Given the description of an element on the screen output the (x, y) to click on. 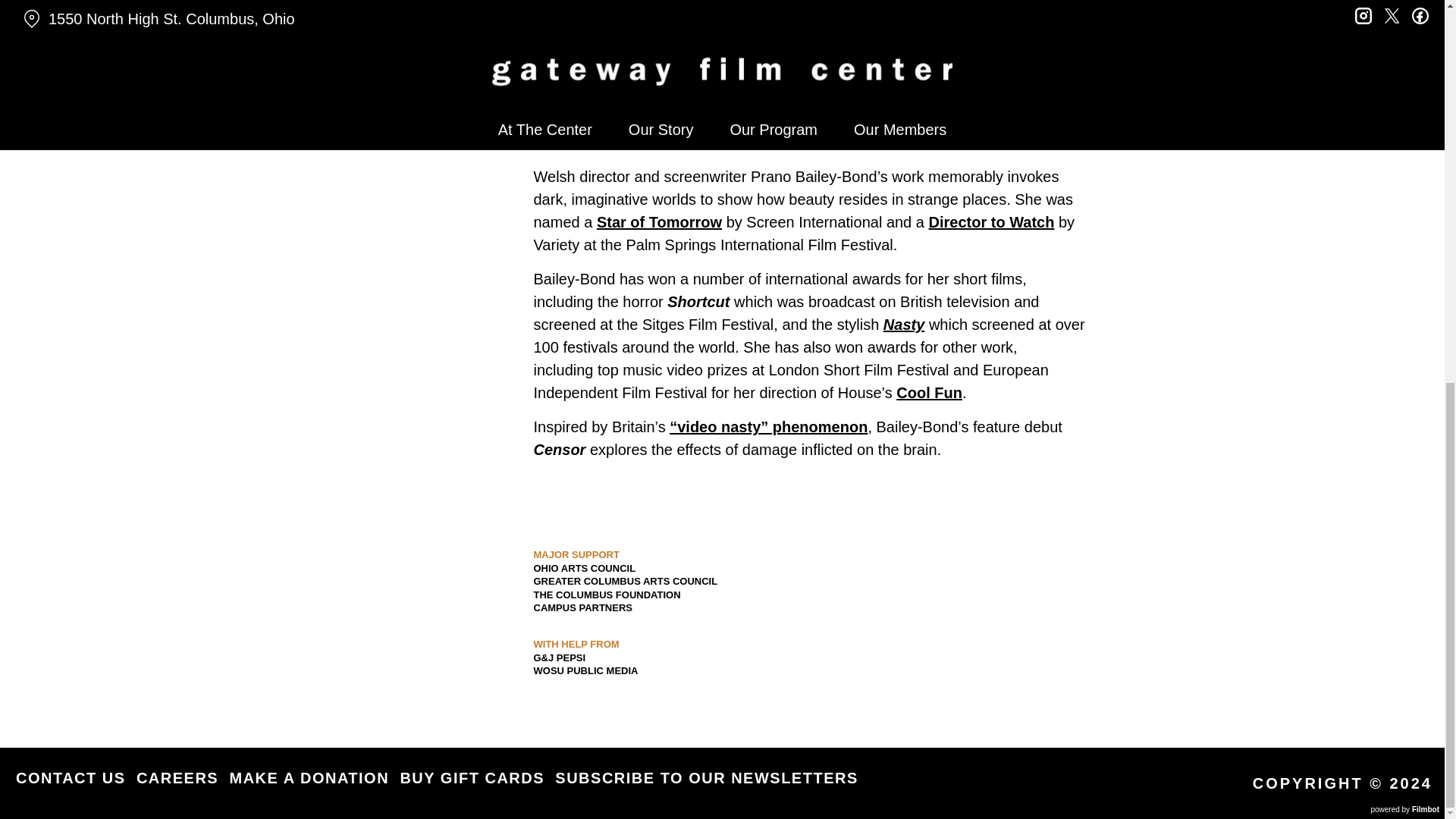
Director to Watch (991, 221)
Cool Fun (929, 392)
Star of Tomorrow (659, 221)
Nasty (903, 324)
